Given the description of an element on the screen output the (x, y) to click on. 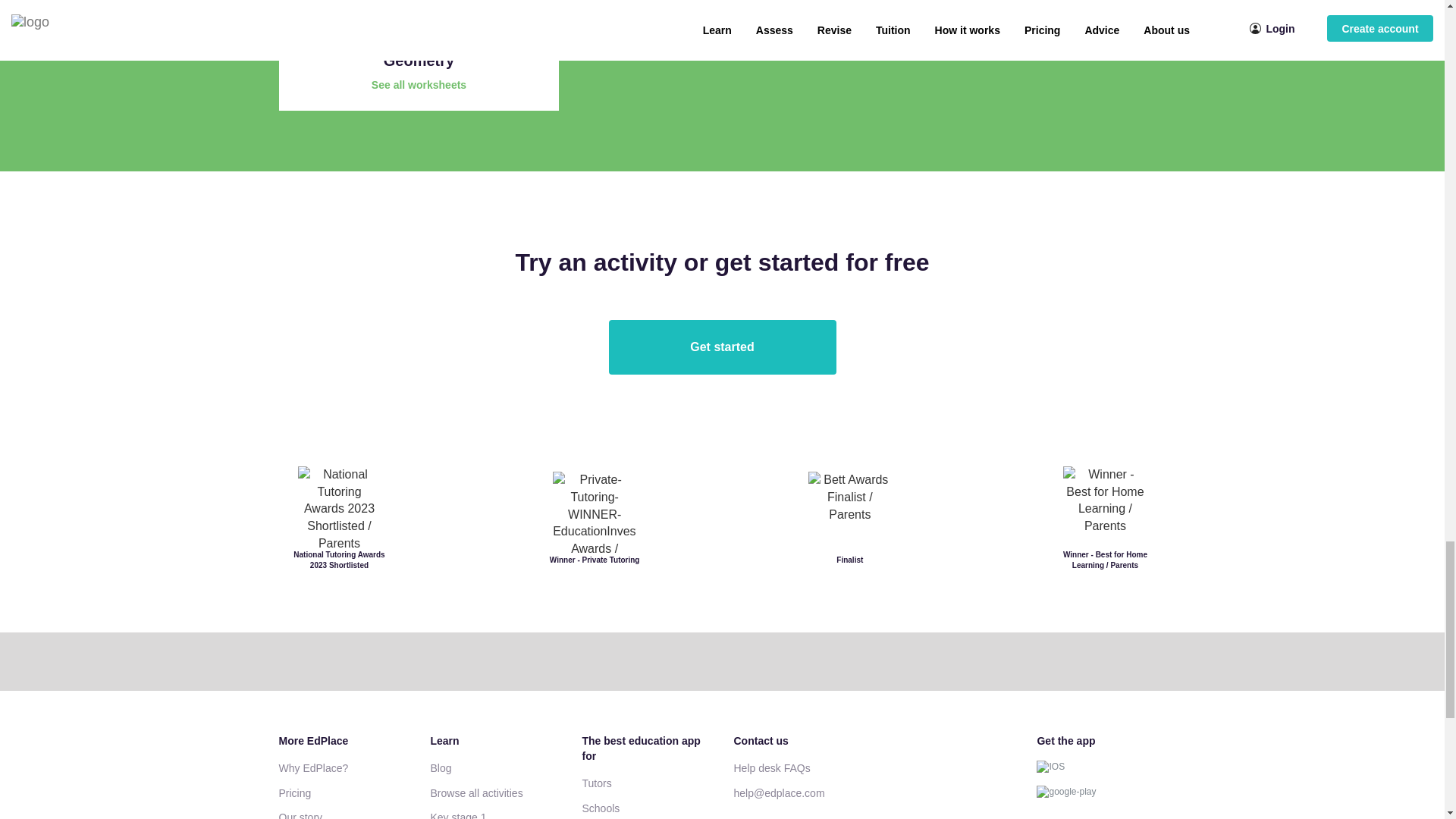
Get started (721, 347)
